Given the description of an element on the screen output the (x, y) to click on. 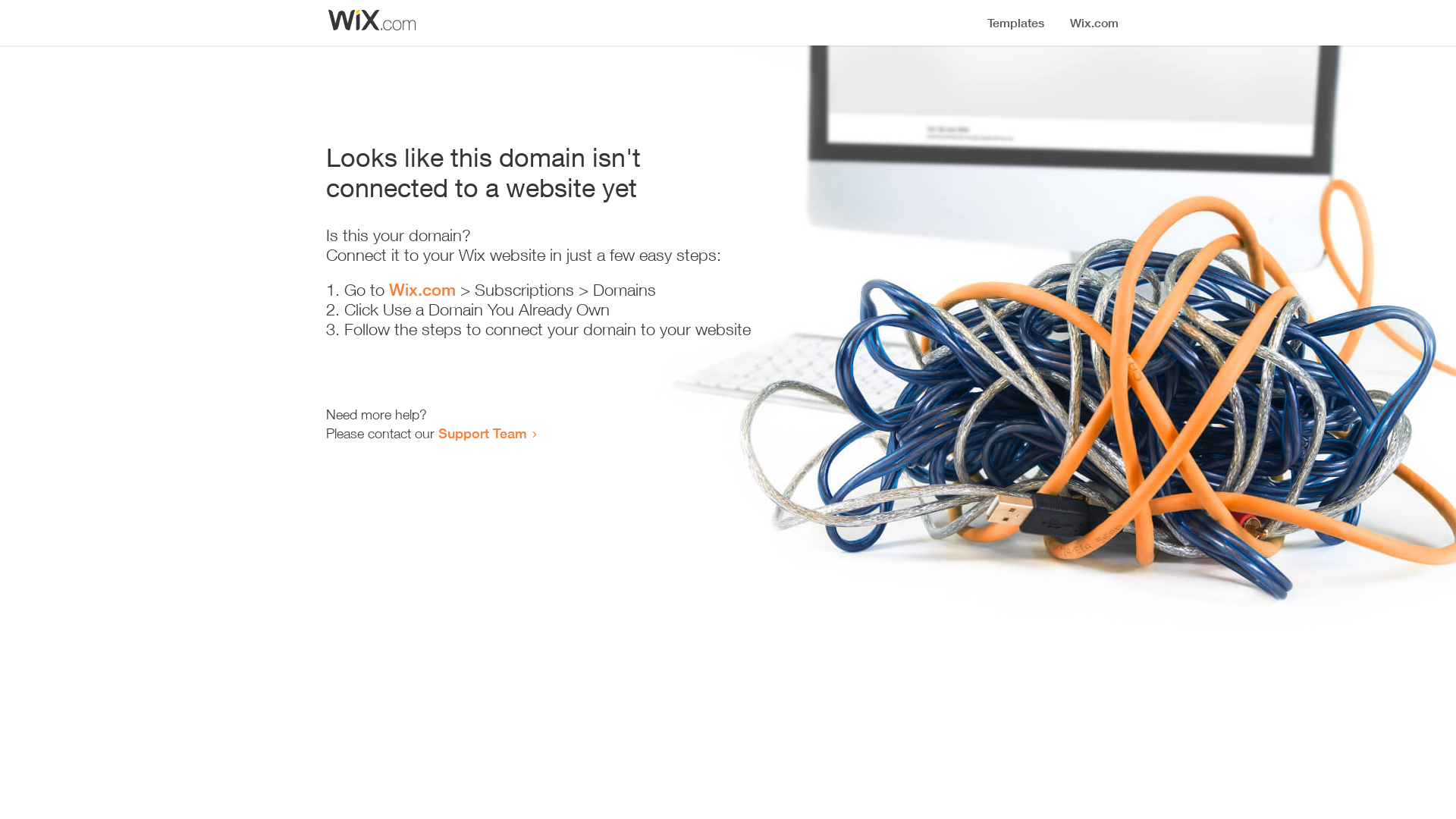
Wix.com Element type: text (422, 289)
Support Team Element type: text (482, 432)
